Given the description of an element on the screen output the (x, y) to click on. 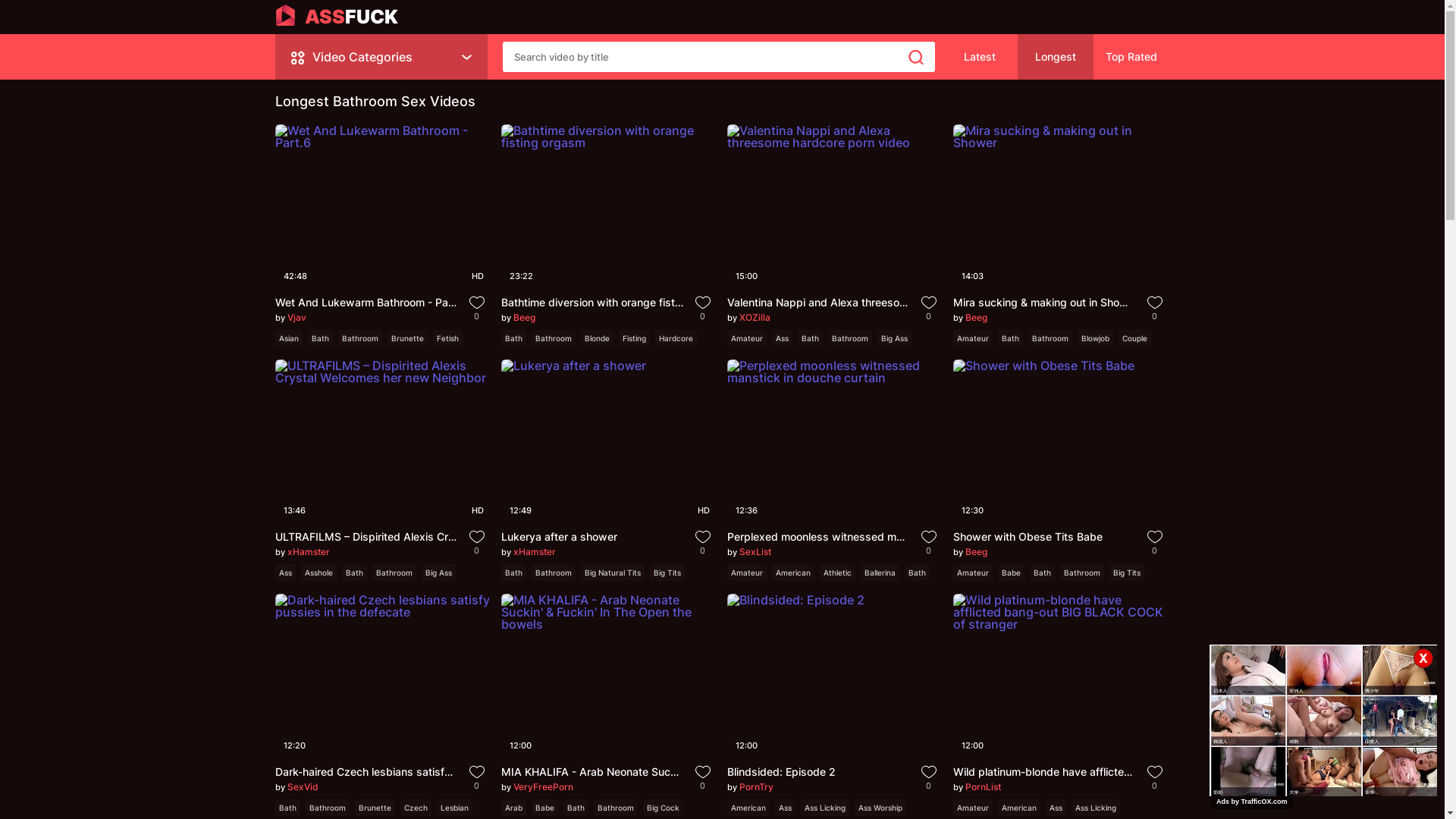
Top Rated Element type: text (1131, 56)
12:00 Element type: text (1060, 674)
Big Tits Element type: text (1125, 572)
Bath Element type: text (319, 337)
23:22 Element type: text (608, 205)
Ads by TrafficOX.com Element type: text (1251, 801)
12:20 Element type: text (382, 674)
Vjav Element type: text (295, 316)
Dark-haired Czech lesbians satisfy pussies in the defecate Element type: text (365, 771)
Amateur Element type: text (745, 572)
Ass Element type: text (284, 572)
Mira sucking & making out in Shower Element type: text (1043, 301)
xHamster Element type: text (307, 551)
American Element type: text (1018, 807)
Perplexed moonless witnessed manstick in douche curtain Element type: text (817, 536)
Bath Element type: text (353, 572)
Big Tits Element type: text (666, 572)
Amateur Element type: text (971, 337)
Lukerya after a shower Element type: text (591, 536)
Valentina Nappi and Alexa threesome hardcore porn video Element type: text (817, 301)
Longest Element type: text (1055, 56)
12:00 Element type: text (834, 674)
Wet And Lukewarm Bathroom - Part.6 Element type: text (365, 301)
Bathroom Element type: text (360, 337)
Couple Element type: text (1133, 337)
Bath Element type: text (809, 337)
PornTry Element type: text (755, 786)
Bathroom Element type: text (393, 572)
Fetish Element type: text (446, 337)
Shower with Obese Tits Babe Element type: text (1043, 536)
Athletic Element type: text (836, 572)
SexVid Element type: text (301, 786)
American Element type: text (747, 807)
Brunette Element type: text (374, 807)
Asshole Element type: text (317, 572)
Big Ass Element type: text (893, 337)
HD
12:49 Element type: text (608, 440)
15:00 Element type: text (834, 205)
Ass Worship Element type: text (879, 807)
VeryFreePorn Element type: text (542, 786)
Babe Element type: text (543, 807)
Latest Element type: text (979, 56)
Hardcore Element type: text (675, 337)
Amateur Element type: text (971, 807)
xHamster Element type: text (533, 551)
12:36 Element type: text (834, 440)
HD
42:48 Element type: text (382, 205)
Beeg Element type: text (975, 551)
Ass Licking Element type: text (1094, 807)
Bathroom Element type: text (552, 337)
Bath Element type: text (512, 337)
Bath Element type: text (574, 807)
Fisting Element type: text (633, 337)
Arab Element type: text (512, 807)
Bath Element type: text (1041, 572)
Bathroom Element type: text (1082, 572)
Ass Element type: text (785, 807)
SexList Element type: text (754, 551)
Ass Element type: text (781, 337)
Blonde Element type: text (596, 337)
Blindsided: Episode 2 Element type: text (817, 771)
Blowjob Element type: text (1094, 337)
Big Ass Element type: text (438, 572)
Bath Element type: text (1009, 337)
PornList Element type: text (982, 786)
Beeg Element type: text (975, 316)
American Element type: text (792, 572)
Bathroom Element type: text (552, 572)
Bathtime diversion with orange fisting orgasm Element type: text (591, 301)
Beeg Element type: text (523, 316)
Amateur Element type: text (971, 572)
Bathroom Element type: text (850, 337)
Bathroom Element type: text (326, 807)
Bathroom Element type: text (615, 807)
XOZilla Element type: text (753, 316)
ASSFUCK Element type: text (336, 17)
Asian Element type: text (287, 337)
HD
13:46 Element type: text (382, 440)
Ballerina Element type: text (878, 572)
Big Cock Element type: text (663, 807)
Search X Videos Element type: hover (718, 56)
Bath Element type: text (286, 807)
Big Natural Tits Element type: text (612, 572)
Lesbian Element type: text (454, 807)
12:30 Element type: text (1060, 440)
Ass Licking Element type: text (824, 807)
Bathroom Element type: text (1050, 337)
Bath Element type: text (512, 572)
Amateur Element type: text (745, 337)
14:03 Element type: text (1060, 205)
Bath Element type: text (915, 572)
Ass Element type: text (1054, 807)
Brunette Element type: text (406, 337)
Czech Element type: text (415, 807)
12:00 Element type: text (608, 674)
Babe Element type: text (1010, 572)
